Given the description of an element on the screen output the (x, y) to click on. 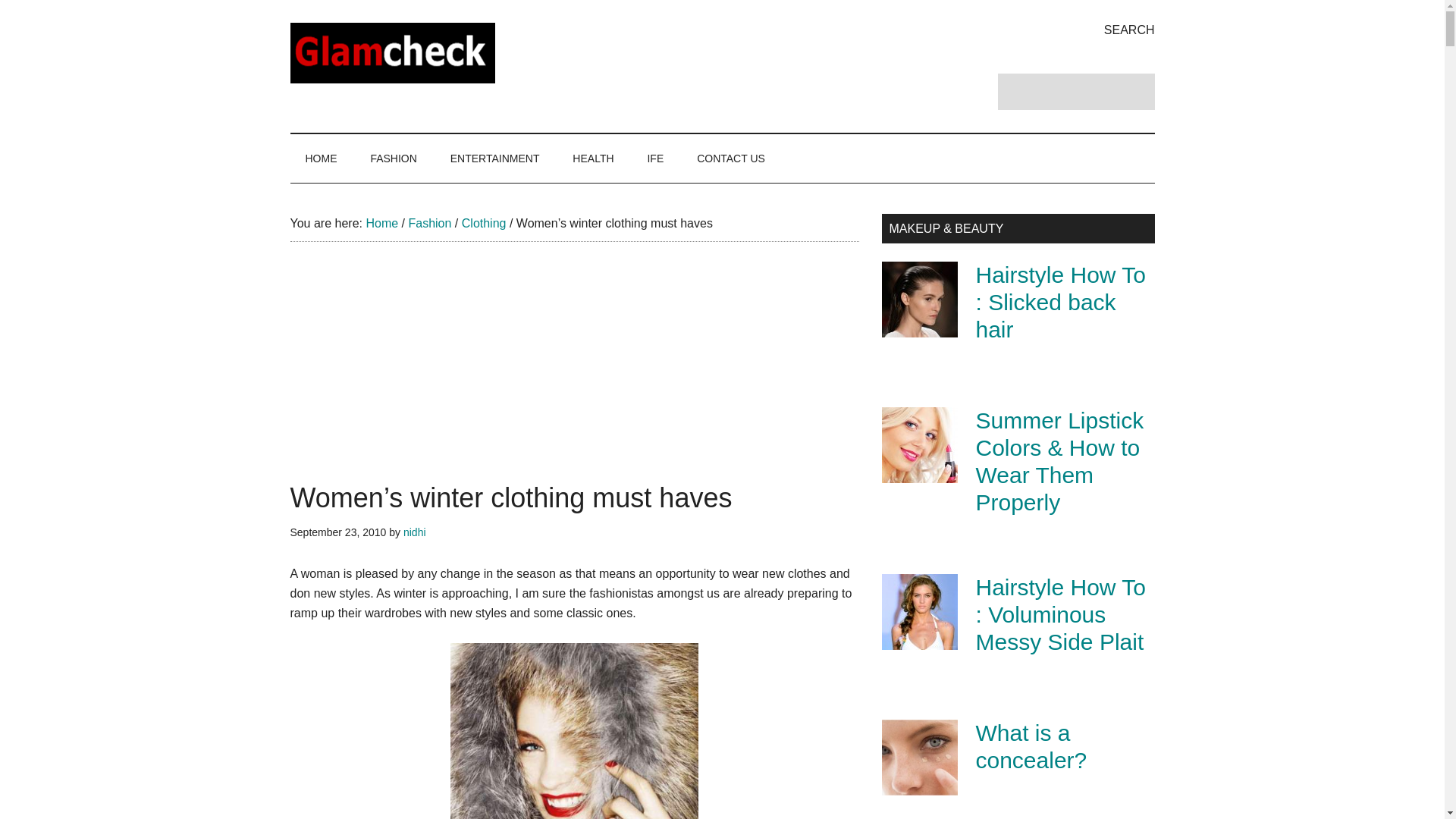
Home (381, 223)
FASHION (392, 158)
Fashion (429, 223)
Entertainment (494, 158)
nidhi (414, 532)
HEALTH (592, 158)
ENTERTAINMENT (494, 158)
Advertisement (574, 377)
HOME (320, 158)
